Given the description of an element on the screen output the (x, y) to click on. 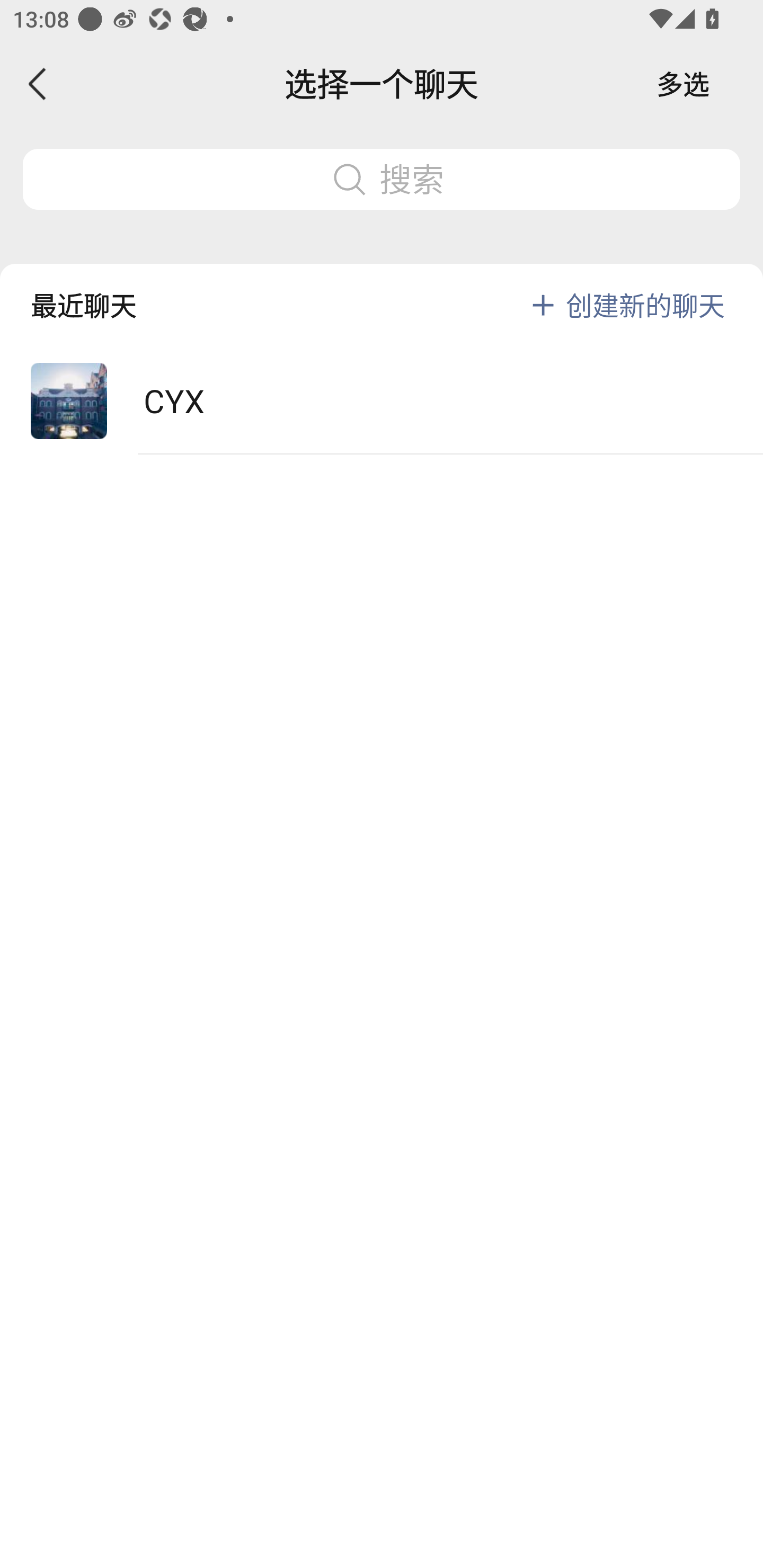
返回 (38, 83)
多选 (683, 83)
最近聊天 创建新的聊天 (381, 290)
创建新的聊天 (645, 304)
CYX (381, 401)
